Given the description of an element on the screen output the (x, y) to click on. 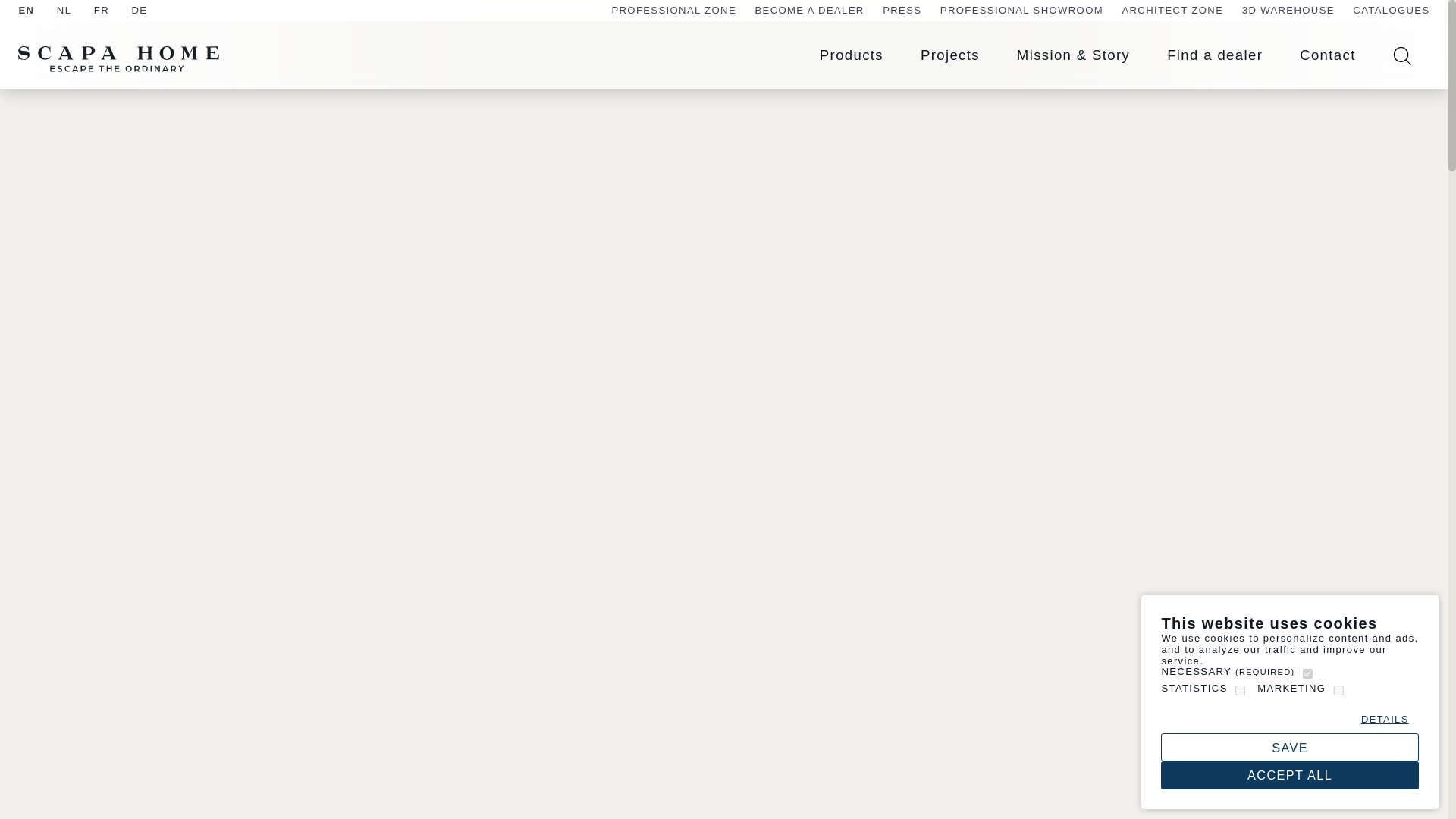
on (1239, 690)
on (1338, 690)
DETAILS (1385, 718)
on (1308, 673)
SAVE (1289, 747)
Products (850, 55)
ACCEPT ALL (1289, 775)
